Given the description of an element on the screen output the (x, y) to click on. 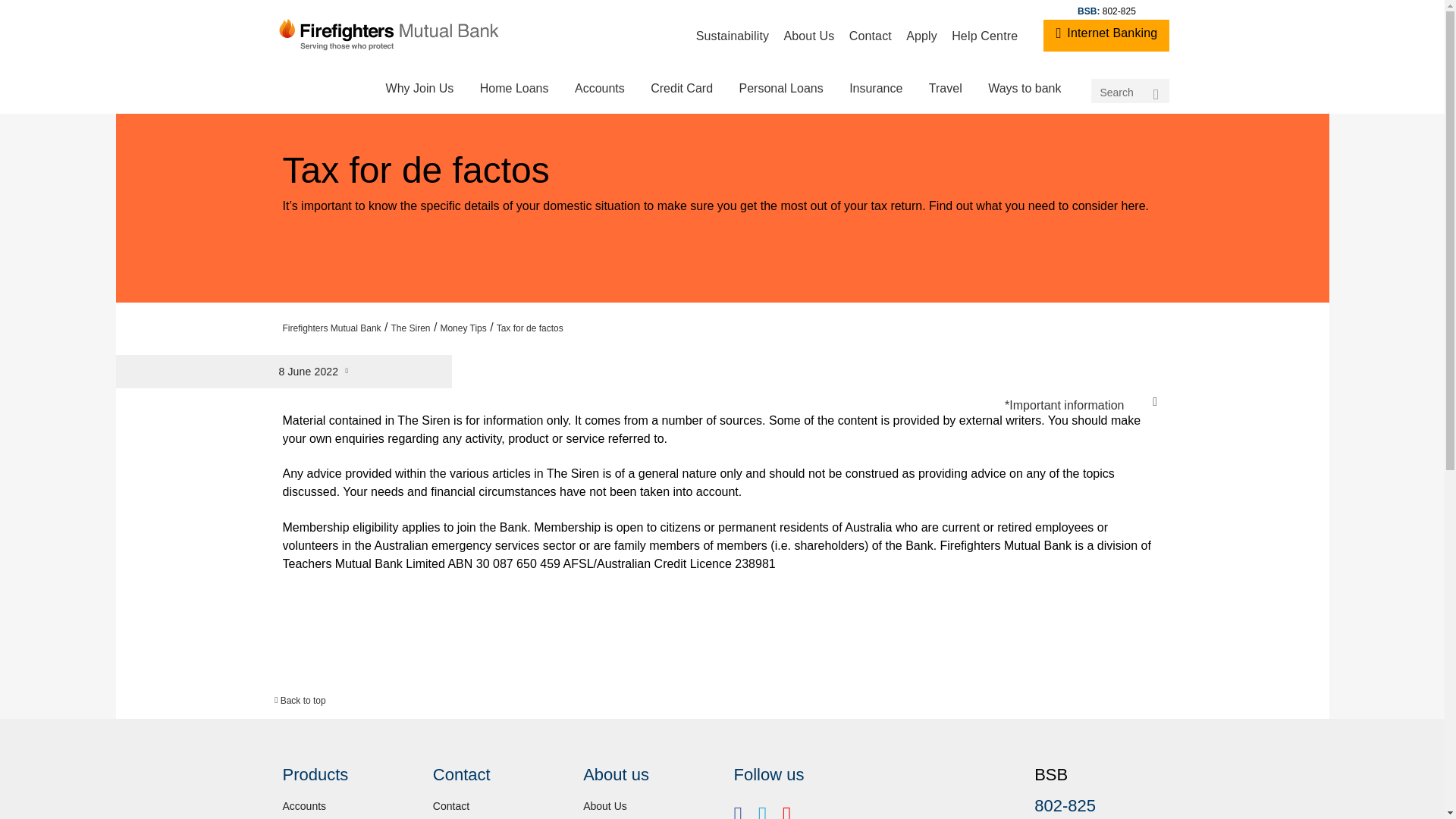
Tax for de factos (529, 327)
Travel (945, 88)
Accounts (304, 806)
Contact (869, 36)
8 June 2022 (590, 425)
Ways to bank (1023, 88)
Money Tips (462, 327)
Personal Loans (780, 88)
Firefighters Mutual Bank (331, 327)
Contact (450, 806)
Accounts (599, 88)
Sustainability (732, 36)
Why Join Us (419, 88)
Talk to us (1015, 323)
